Given the description of an element on the screen output the (x, y) to click on. 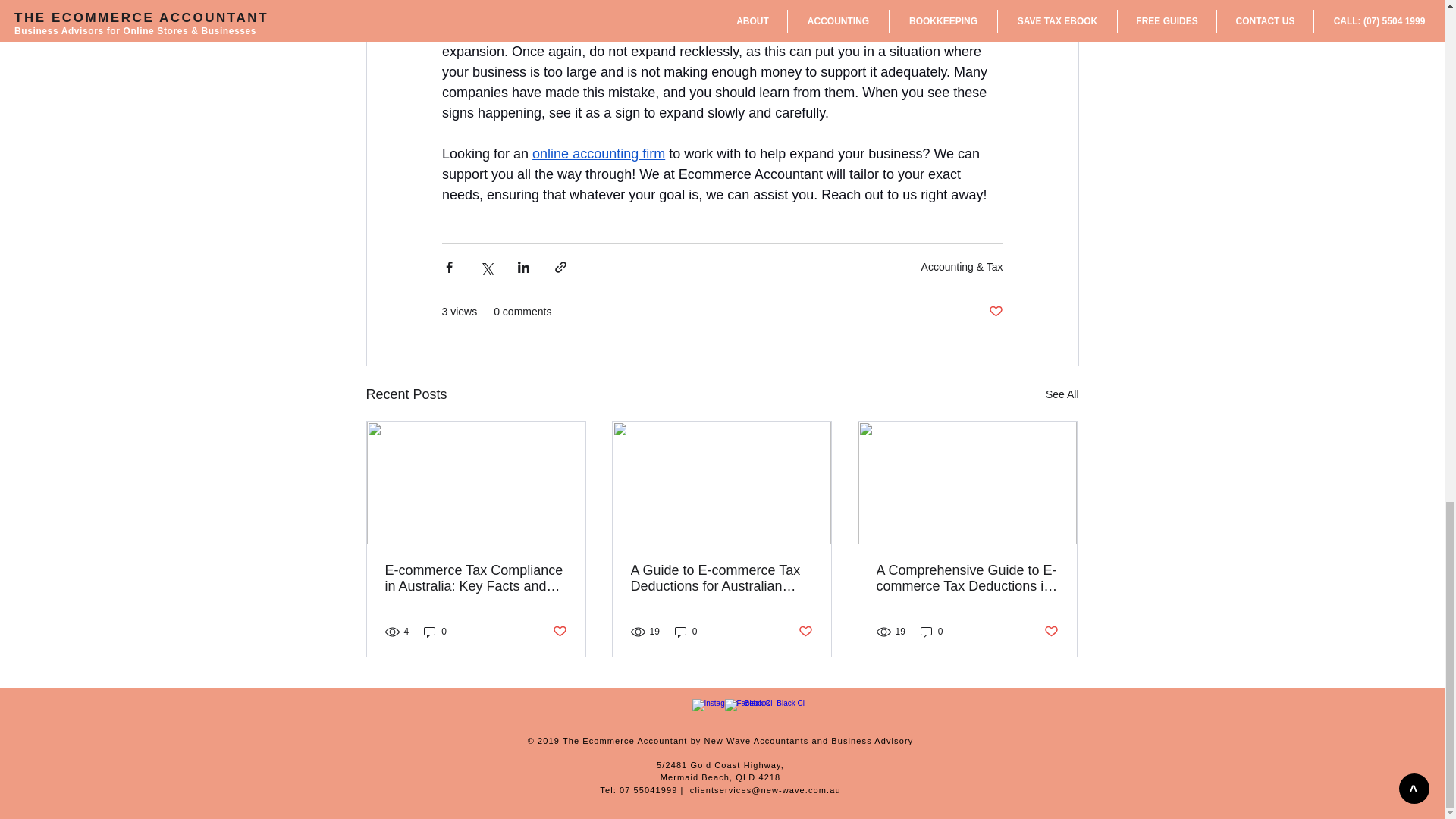
Post not marked as liked (804, 631)
0 (685, 631)
0 (435, 631)
online accounting firm (598, 153)
Post not marked as liked (995, 311)
Post not marked as liked (558, 631)
See All (1061, 394)
